Given the description of an element on the screen output the (x, y) to click on. 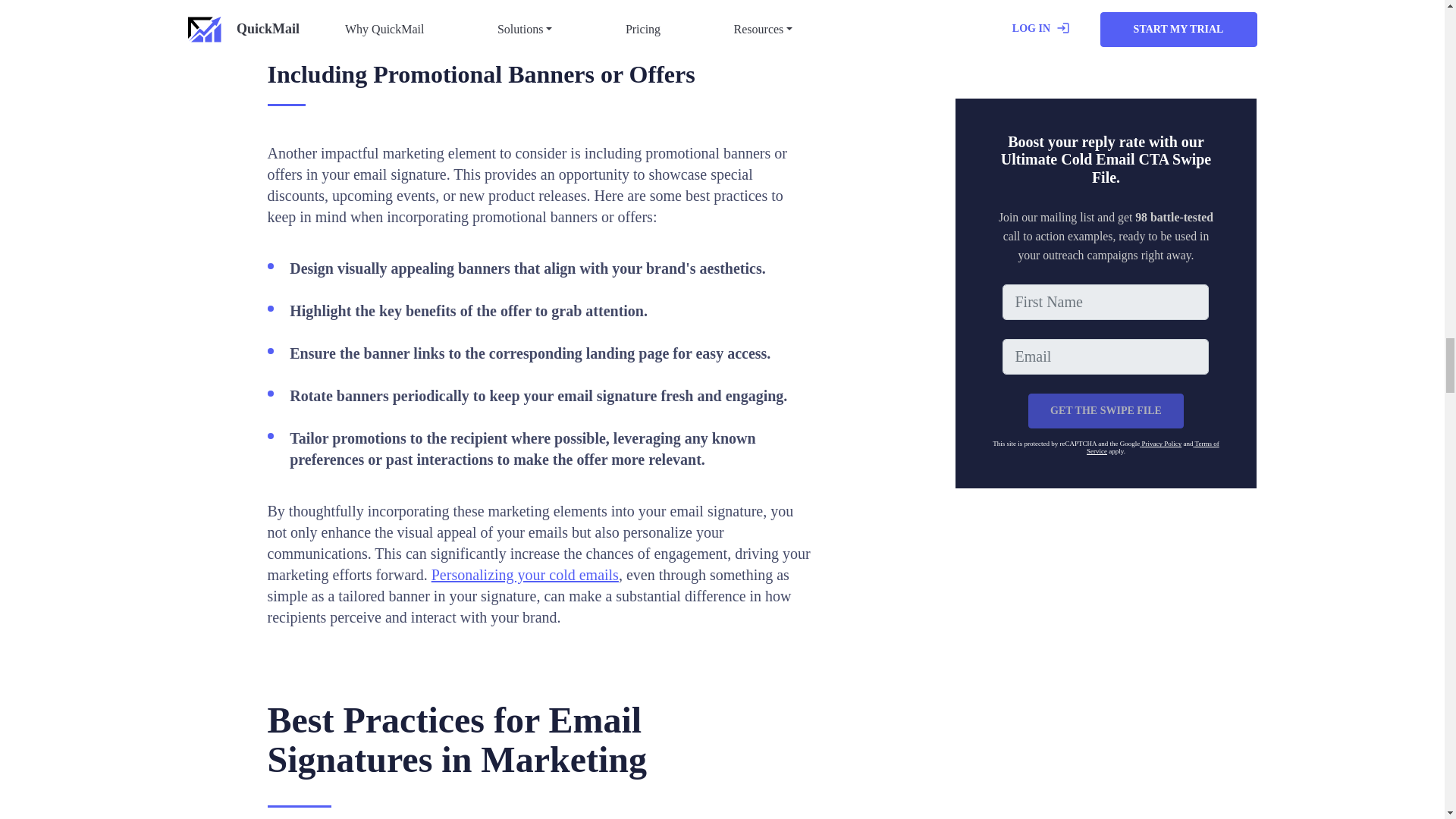
Personalizing your cold emails (524, 574)
